Given the description of an element on the screen output the (x, y) to click on. 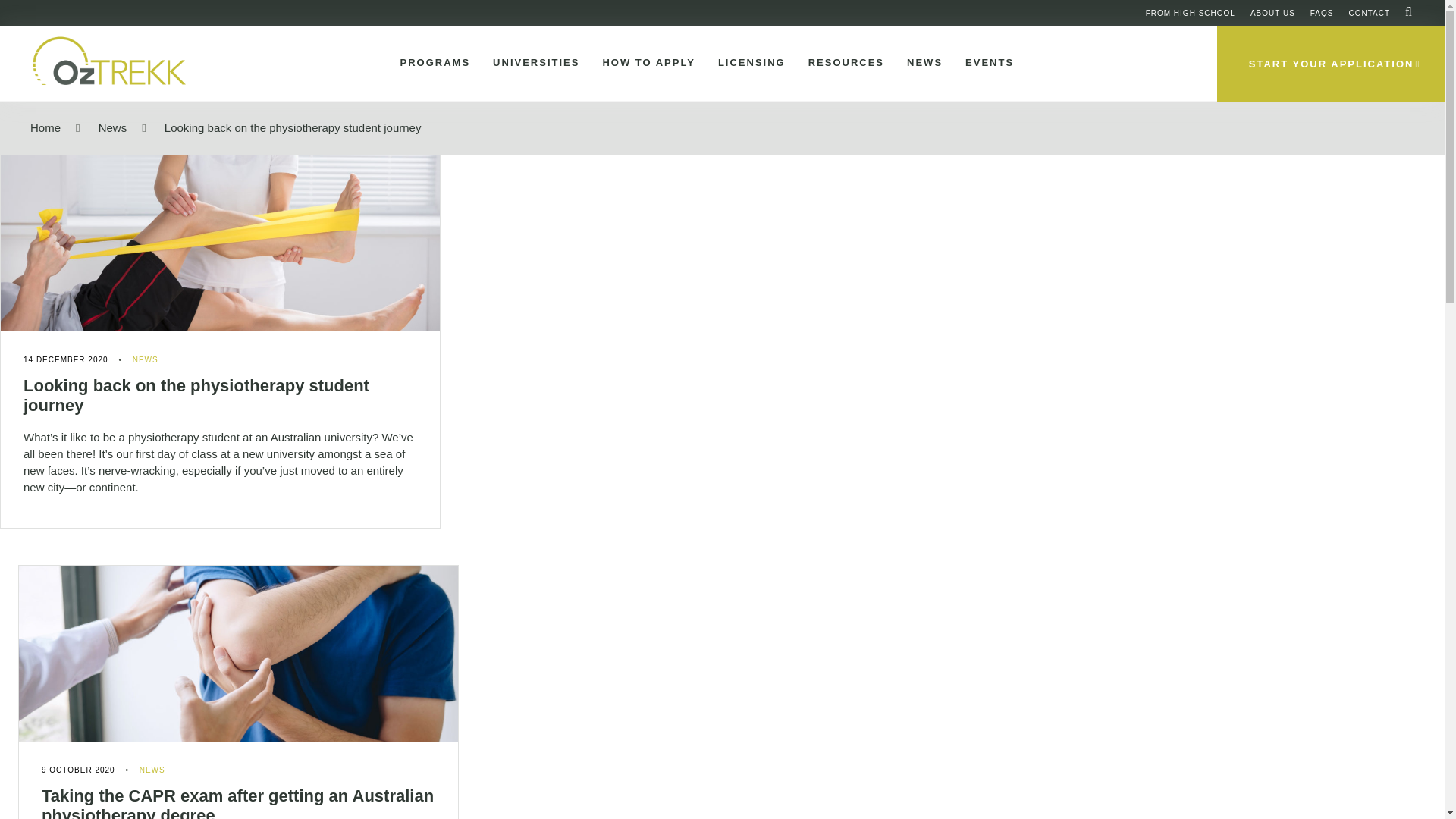
CONTACT (1369, 13)
PROGRAMS (432, 63)
FROM HIGH SCHOOL (1189, 13)
ABOUT US (1272, 13)
FAQS (1321, 13)
